Given the description of an element on the screen output the (x, y) to click on. 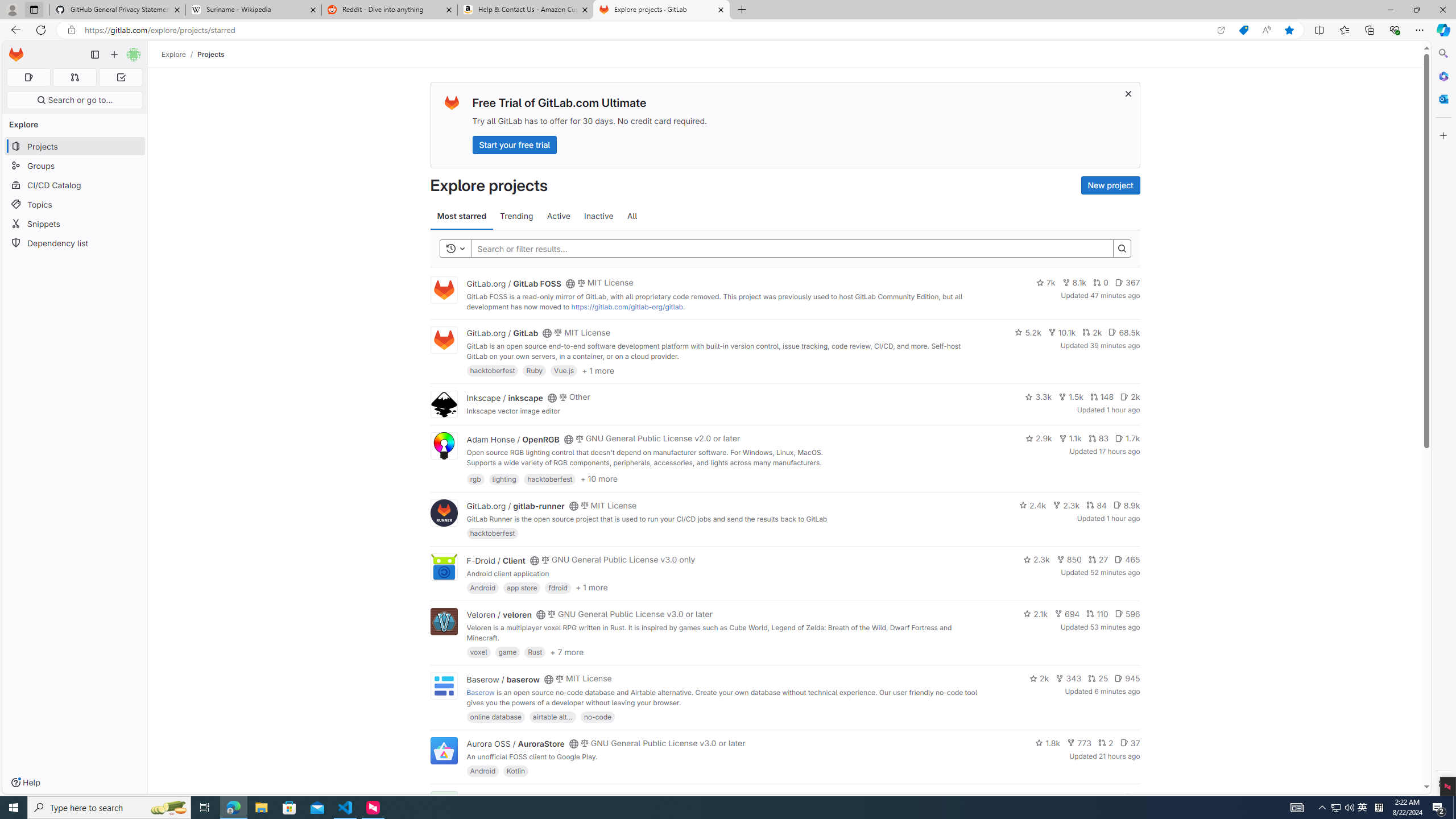
Explore/ (179, 53)
1.4k (1054, 797)
773 (1079, 742)
https://gitlab.com/gitlab-org/gitlab (626, 306)
F (443, 805)
6 (1132, 797)
